Given the description of an element on the screen output the (x, y) to click on. 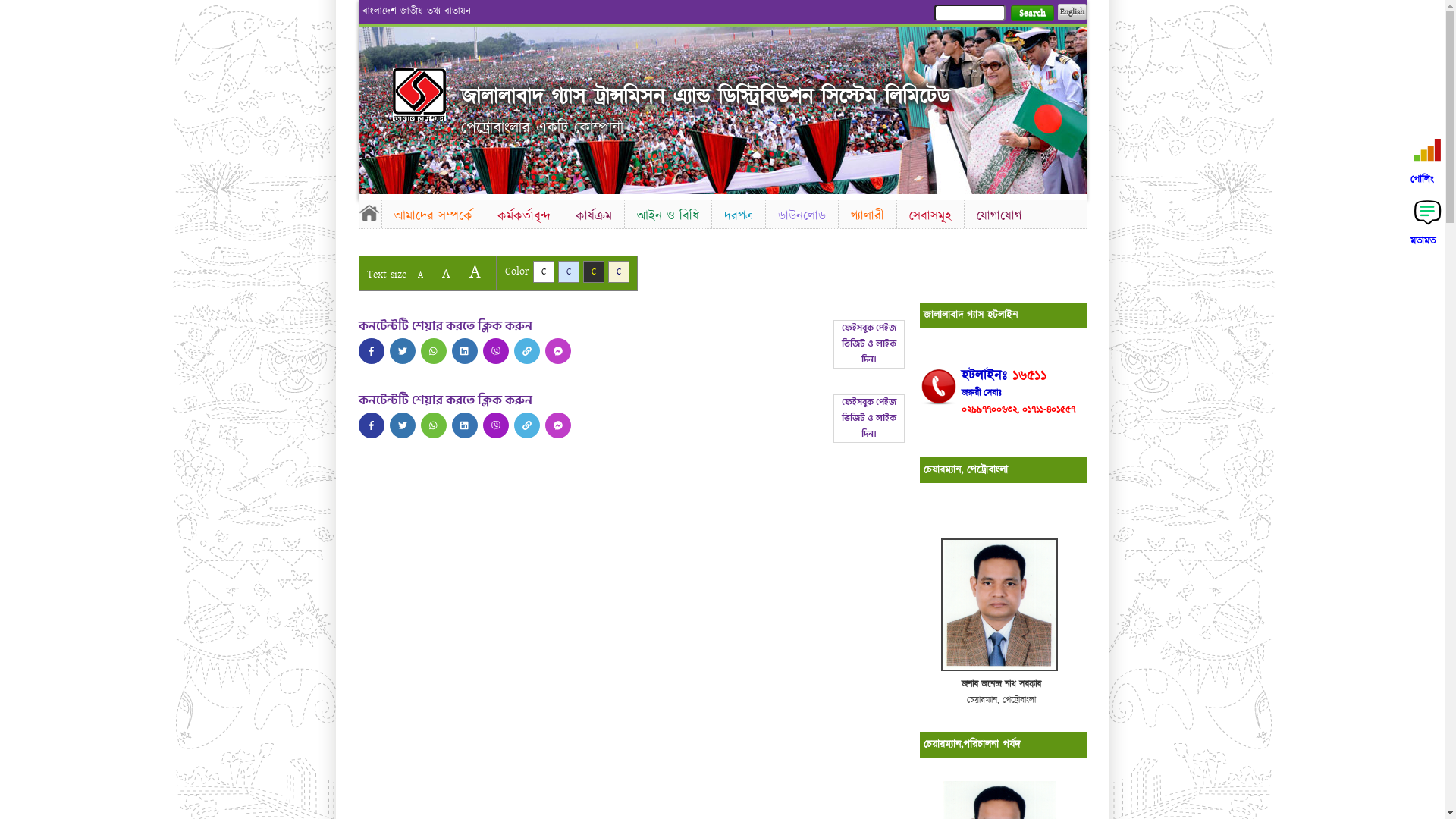
A Element type: text (419, 274)
Search Element type: text (1031, 13)
C Element type: text (592, 271)
Home Element type: hover (418, 94)
Home Element type: hover (368, 211)
A Element type: text (474, 271)
C Element type: text (542, 271)
A Element type: text (445, 273)
C Element type: text (618, 271)
C Element type: text (568, 271)
English Element type: text (1071, 11)
